Given the description of an element on the screen output the (x, y) to click on. 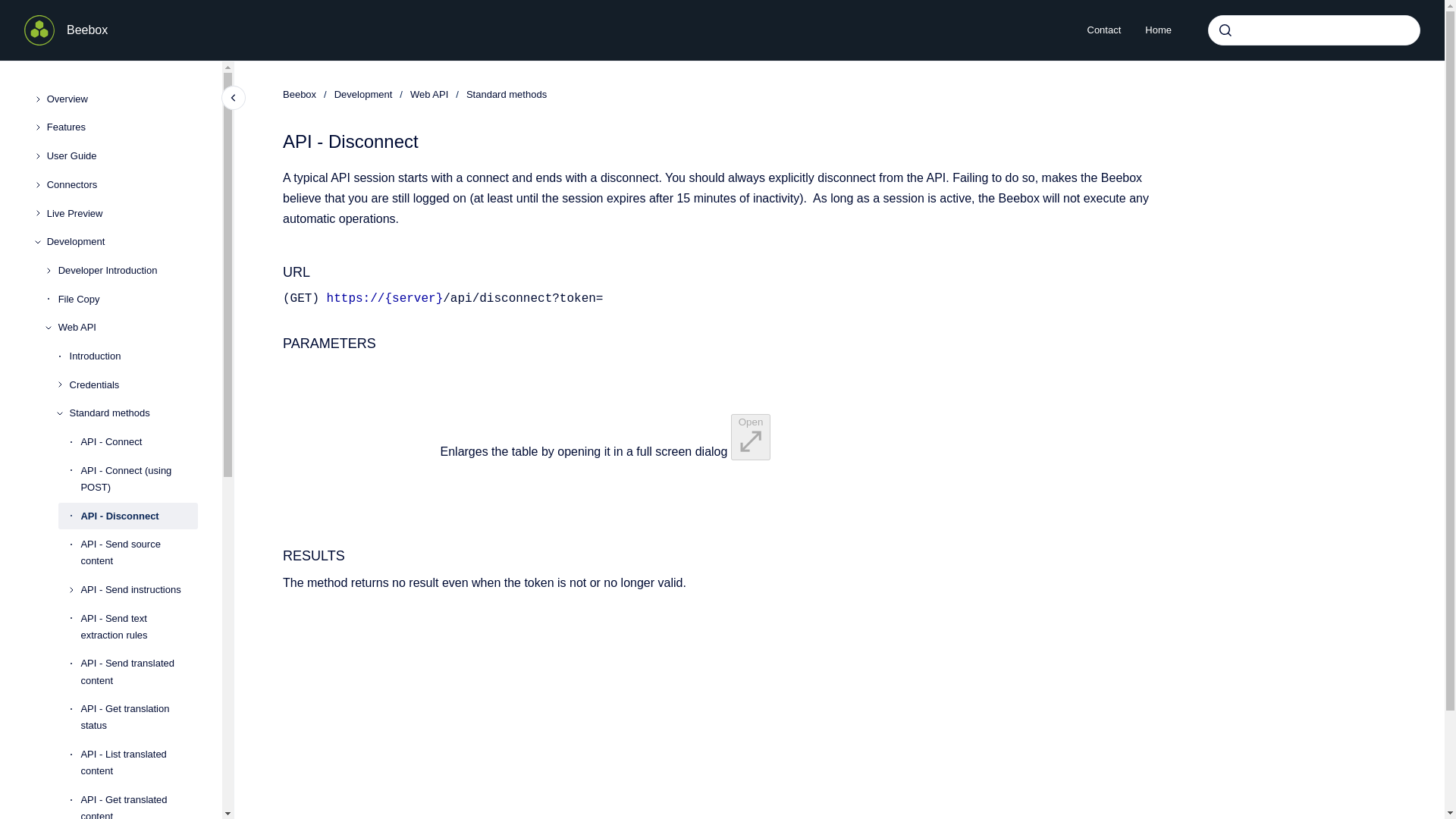
Introduction (133, 356)
Credentials (133, 384)
Web API (128, 327)
Features (122, 127)
Copy to clipboard (275, 554)
API - Get translation status (139, 717)
Copy to clipboard (275, 271)
API - Send text extraction rules (139, 627)
Live Preview (122, 213)
API - Disconnect (139, 515)
API - Send source content (139, 552)
Developer Introduction (128, 270)
API - List translated content (139, 762)
File Copy (128, 298)
API - Connect (139, 441)
